Given the description of an element on the screen output the (x, y) to click on. 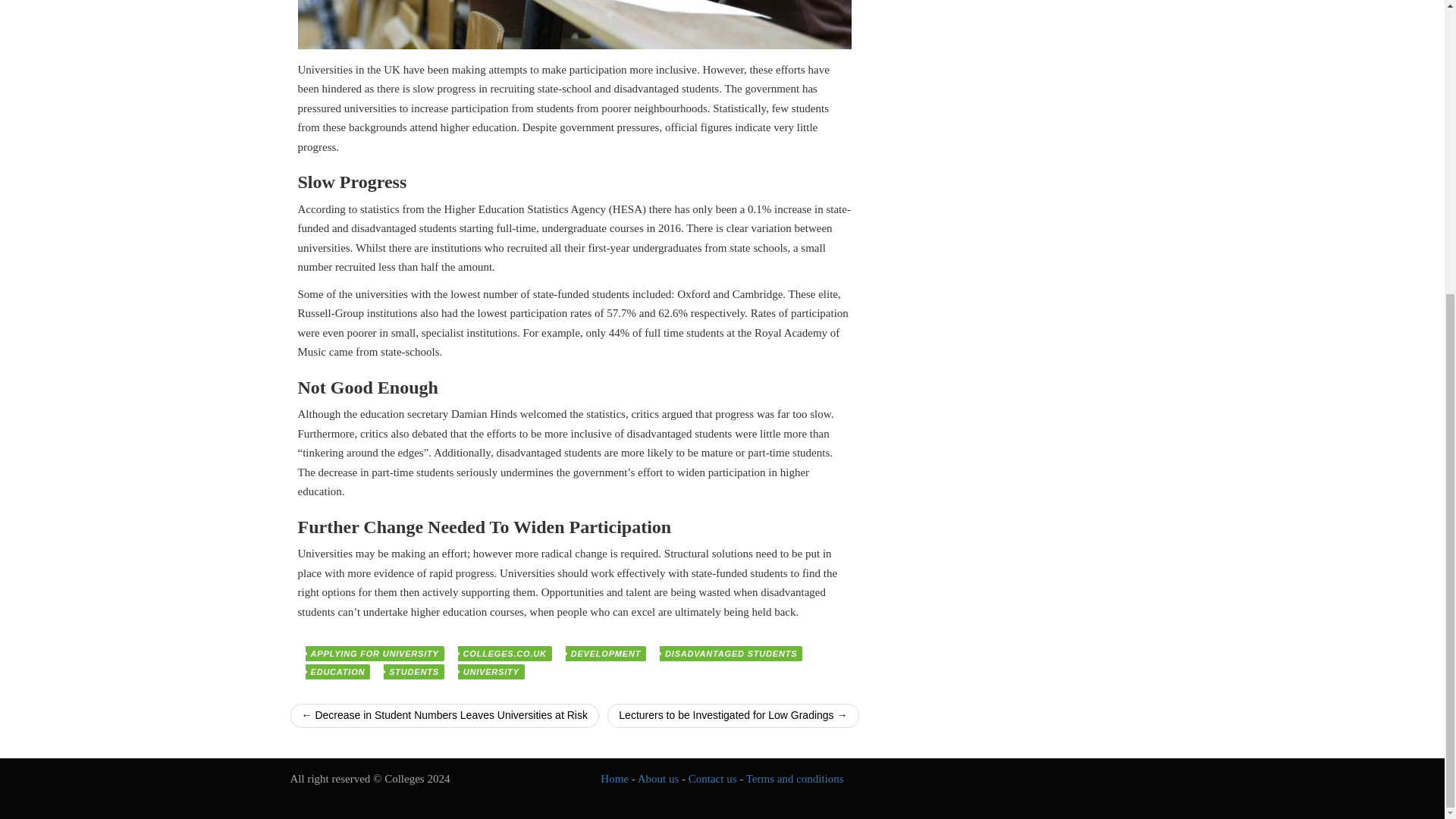
EDUCATION (336, 671)
APPLYING FOR UNIVERSITY (374, 653)
STUDENTS (414, 671)
COLLEGES.CO.UK (504, 653)
DEVELOPMENT (606, 653)
DISADVANTAGED STUDENTS (730, 653)
UNIVERSITY (491, 671)
